Given the description of an element on the screen output the (x, y) to click on. 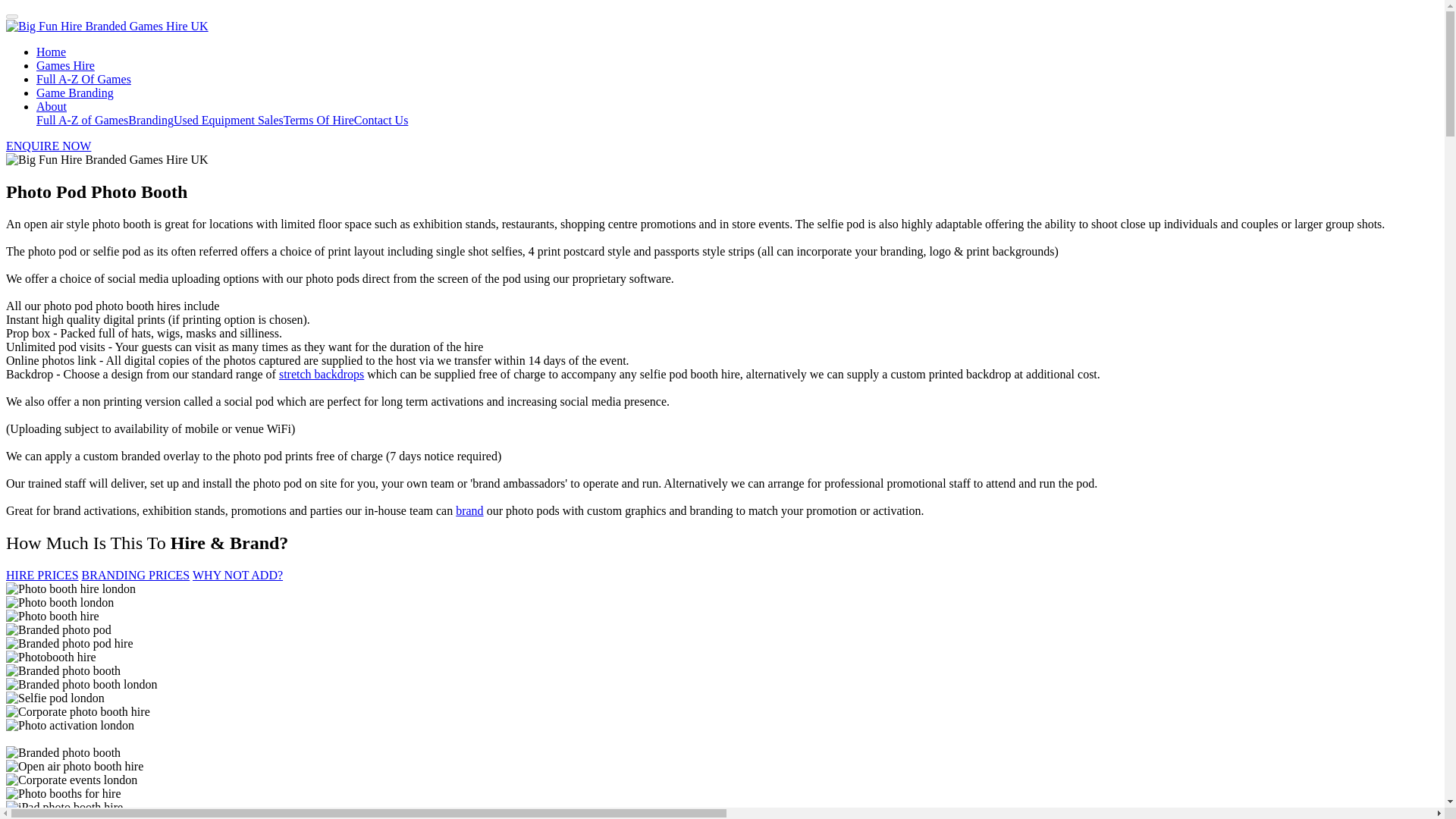
Open air photo booth hire (73, 766)
Photo booth hire london (70, 589)
Photo booth london (59, 602)
Branded photo booth (62, 671)
london photo booth hire (72, 816)
Home (50, 51)
Big Fun Hire Branded Games Hire UK (106, 160)
brand (469, 510)
Contact Us (381, 119)
BRANDING PRICES (135, 574)
Selfie pod london (54, 698)
Full A-Z Of Games (83, 78)
stretch backdrops (321, 373)
About (51, 106)
HIRE PRICES (41, 574)
